Given the description of an element on the screen output the (x, y) to click on. 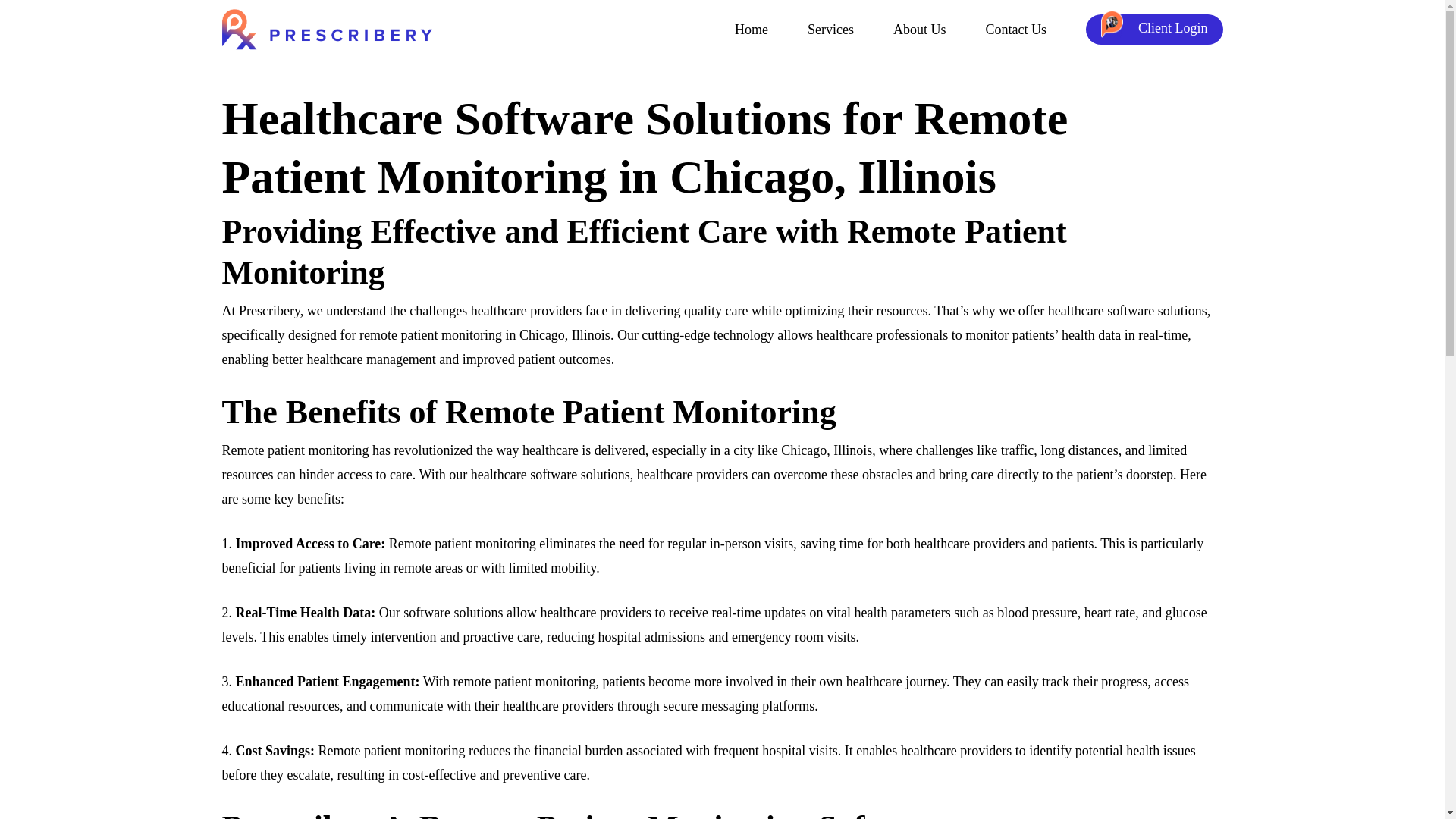
Services (830, 29)
About Us (919, 29)
Home (751, 29)
Contact Us (1015, 29)
Client Login (1154, 29)
